Given the description of an element on the screen output the (x, y) to click on. 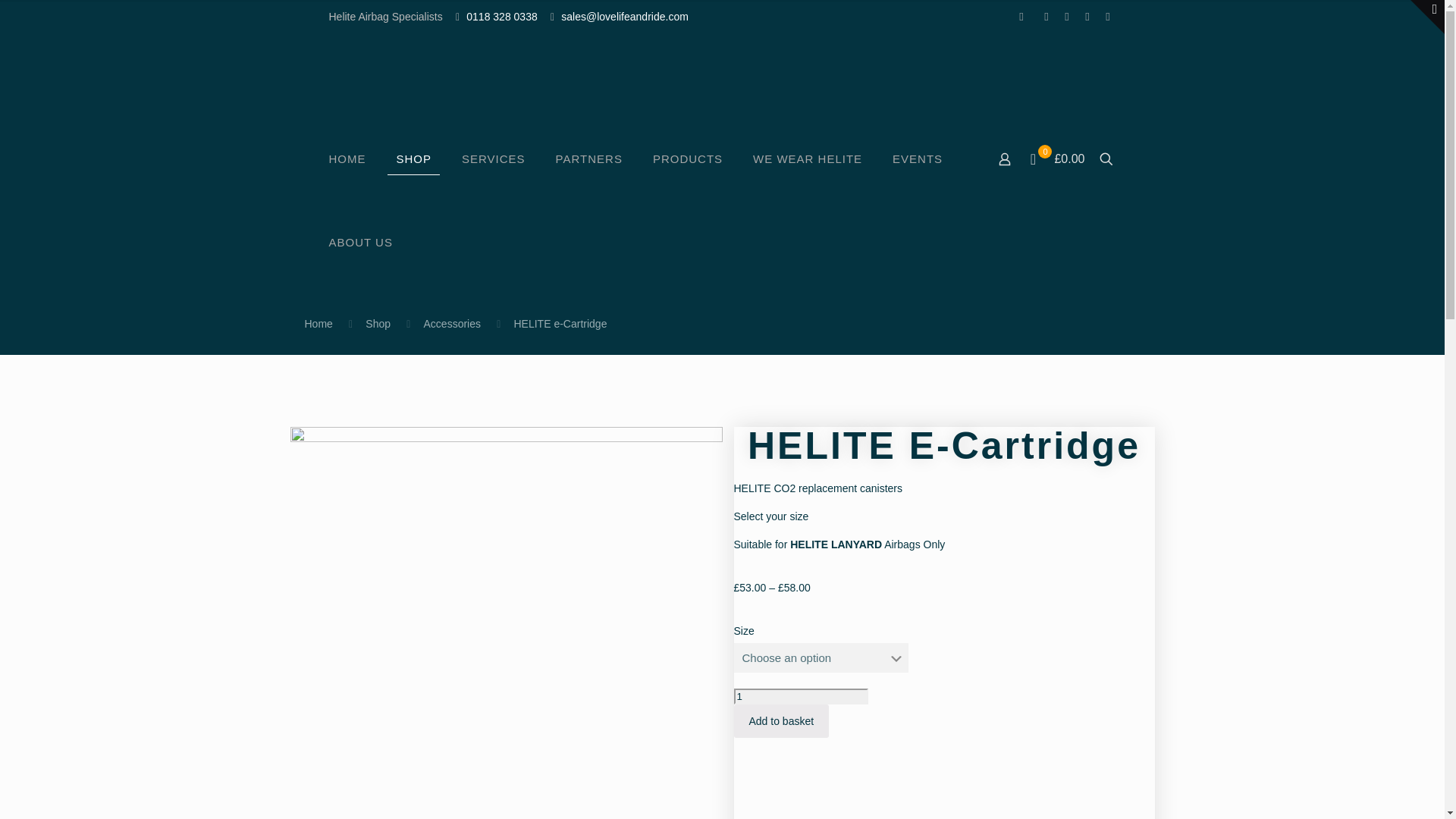
ABOUT US (360, 242)
Home (318, 323)
1 (800, 696)
HELITE e-Cartridge (560, 323)
Accessories (451, 323)
Add to basket (781, 720)
Shop (377, 323)
PARTNERS (588, 158)
Facebook (1021, 15)
